Given the description of an element on the screen output the (x, y) to click on. 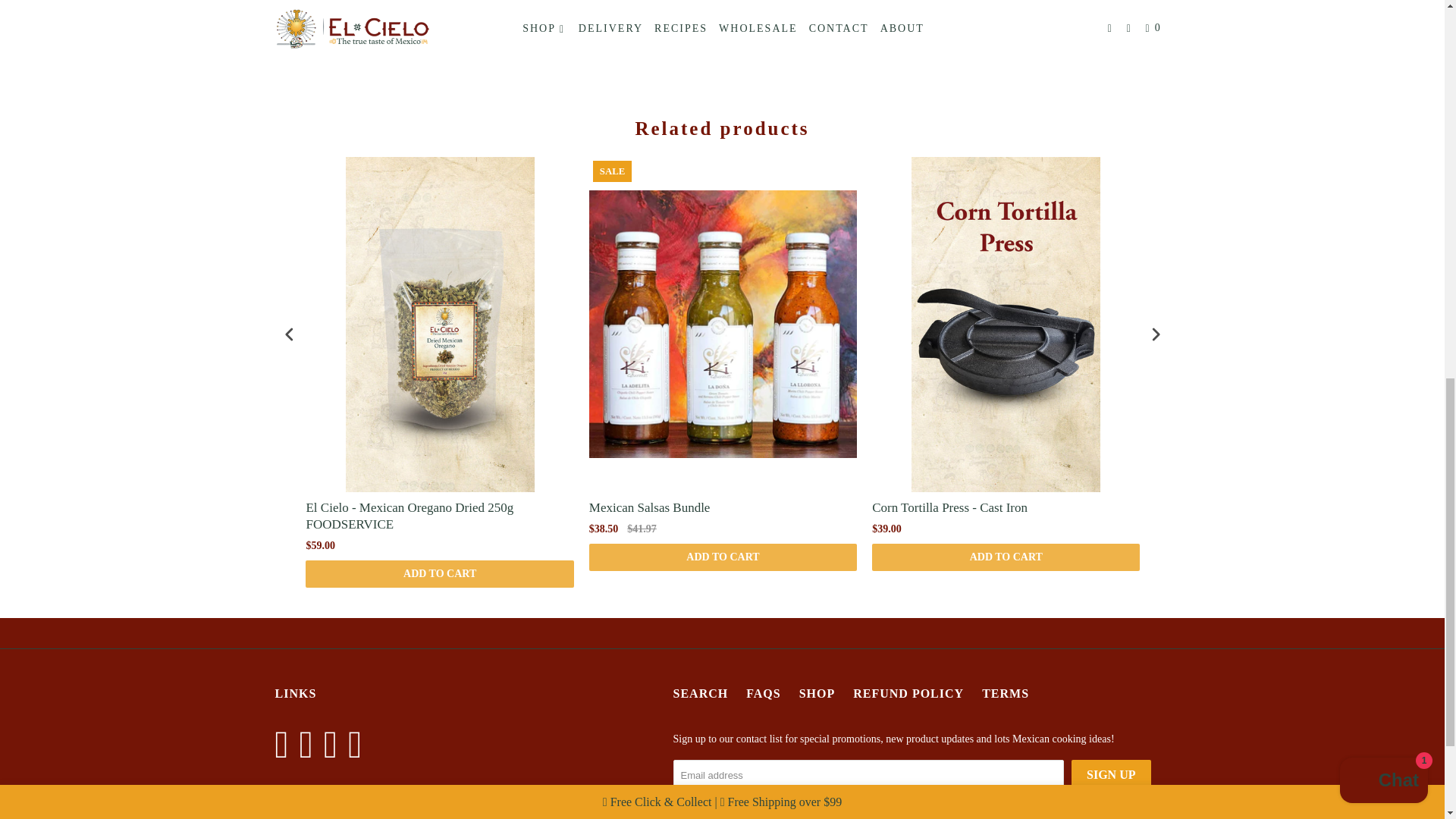
Sign Up (1110, 775)
